Given the description of an element on the screen output the (x, y) to click on. 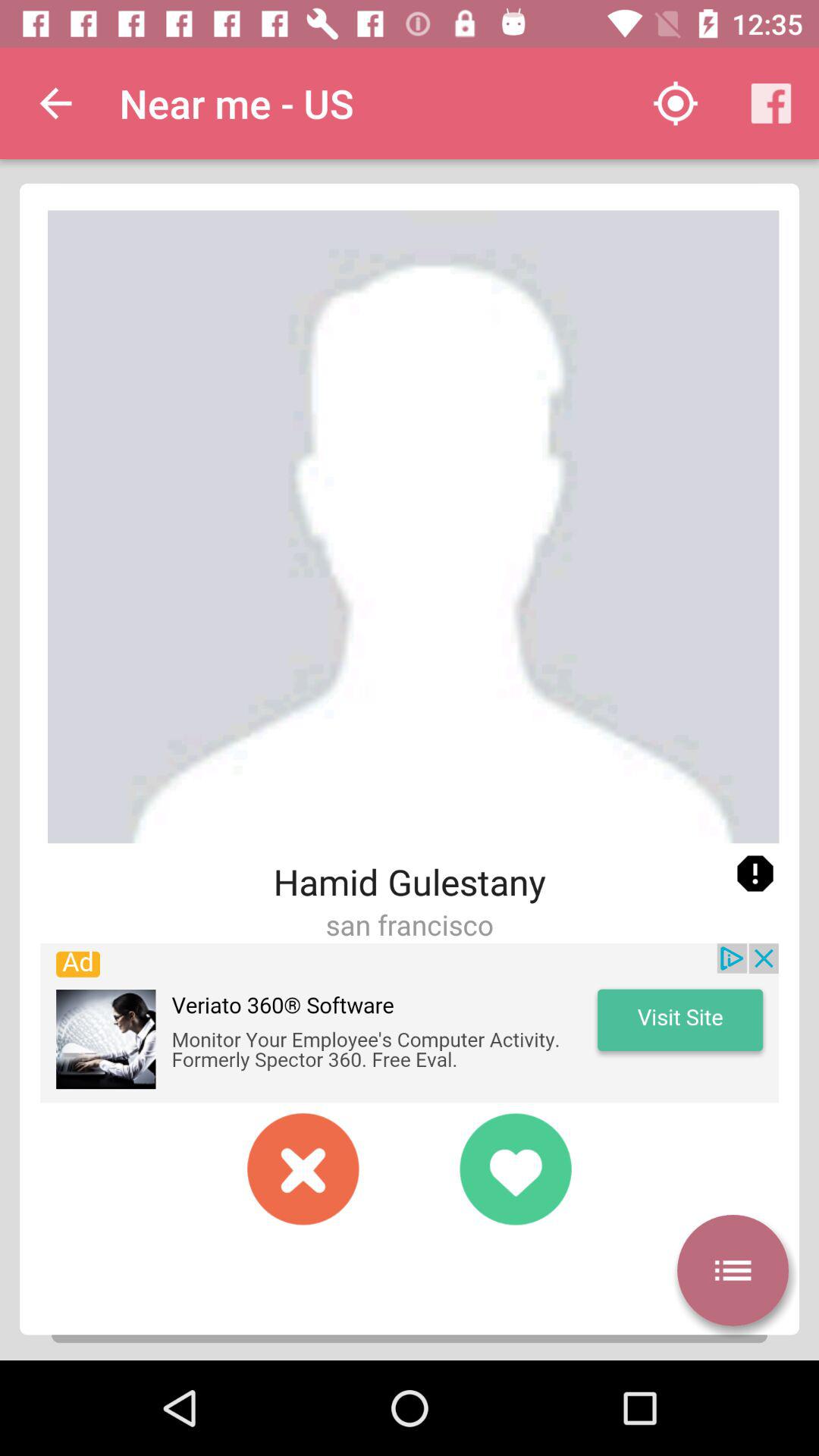
view warning (755, 873)
